Given the description of an element on the screen output the (x, y) to click on. 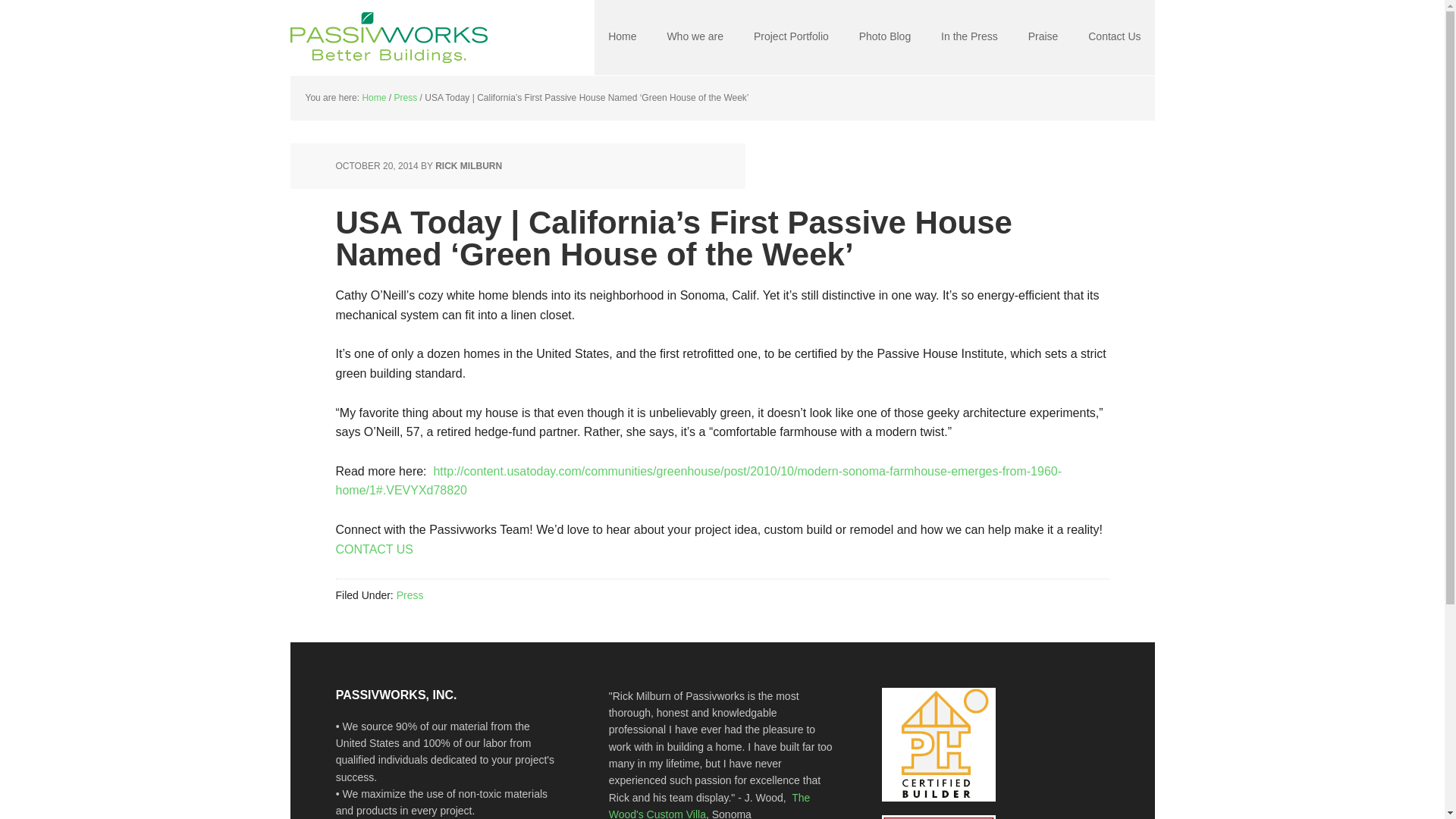
Press (409, 594)
Photo Blog (884, 37)
Press (405, 97)
Project Portfolio (791, 37)
The Wood's Custom Villa (709, 805)
Home (373, 97)
RICK MILBURN (468, 165)
In the Press (969, 37)
Passivworks, Inc. (387, 38)
Who we are (694, 37)
CONTACT US (373, 549)
Contact Us (1114, 37)
